Given the description of an element on the screen output the (x, y) to click on. 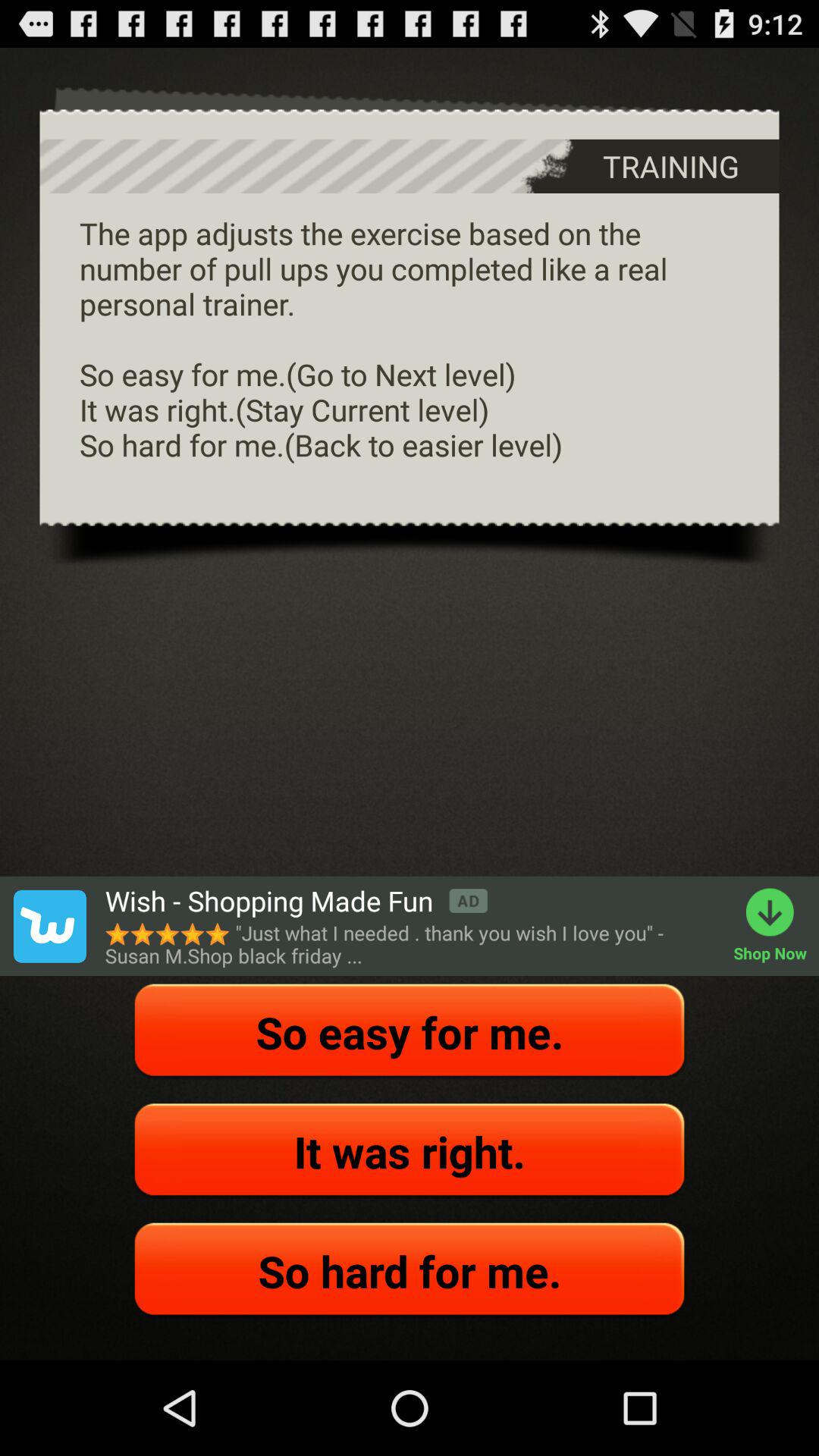
go to wish app (49, 925)
